Given the description of an element on the screen output the (x, y) to click on. 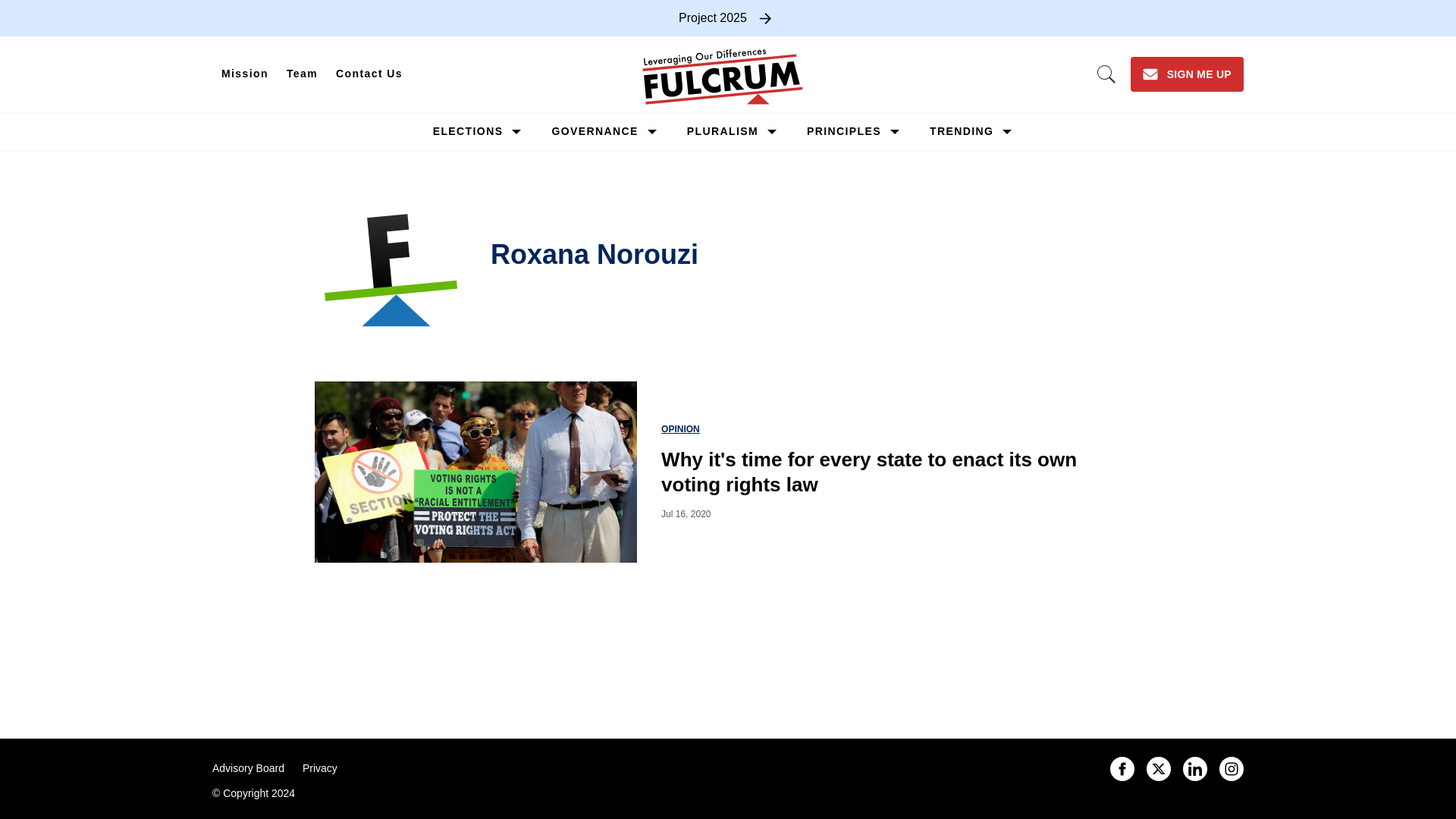
Open Search (1106, 74)
Team (302, 73)
ELECTIONS (467, 131)
Mission (245, 73)
Open Search (1106, 74)
GOVERNANCE (594, 131)
SIGN ME UP (1187, 73)
Contact Us (369, 73)
